Given the description of an element on the screen output the (x, y) to click on. 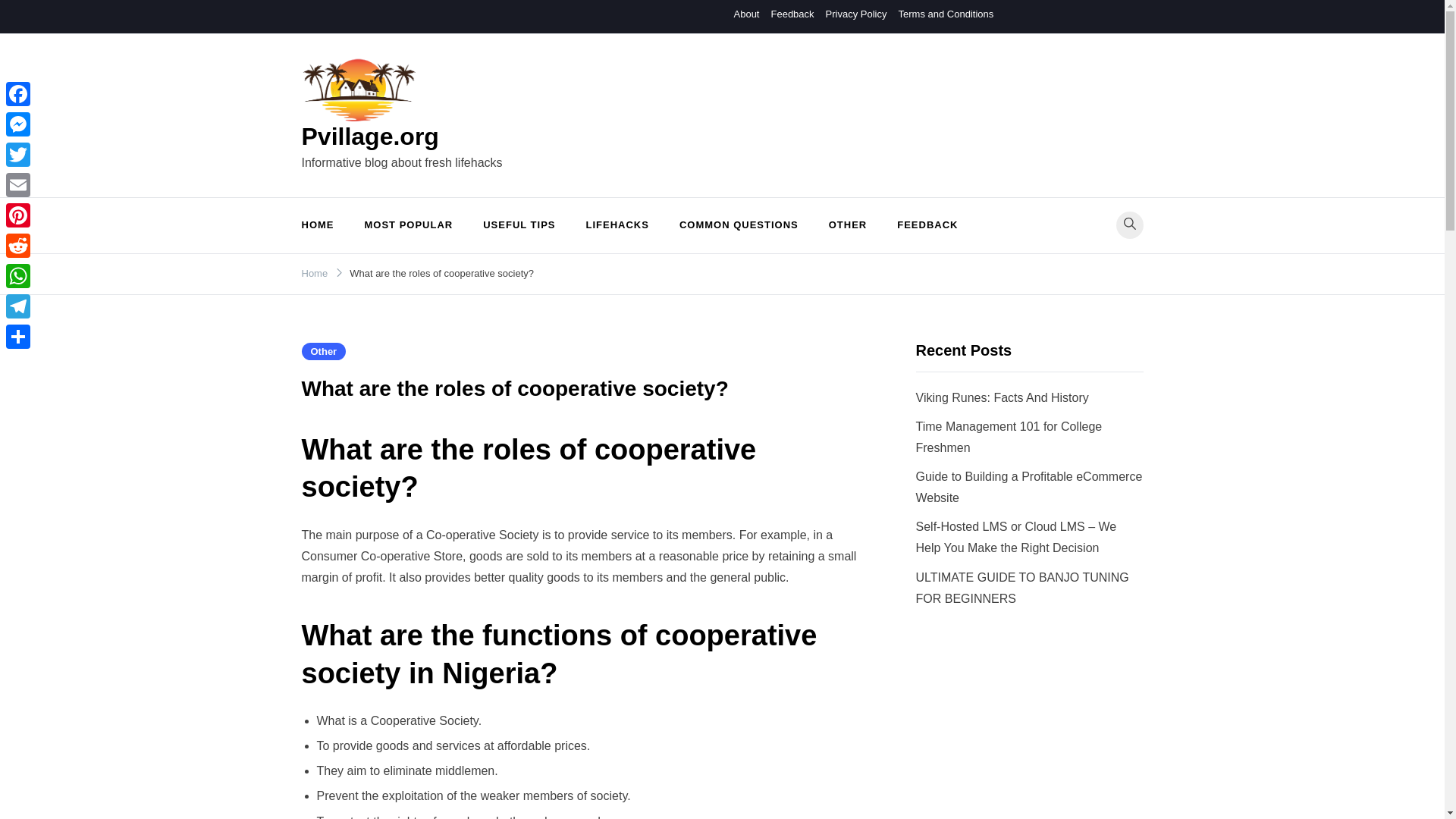
Terms and Conditions (945, 13)
Viking Runes: Facts And History (1002, 397)
ULTIMATE GUIDE TO BANJO TUNING FOR BEGINNERS (1022, 587)
Facebook (17, 93)
Time Management 101 for College Freshmen (1008, 437)
Messenger (17, 123)
WhatsApp (17, 276)
Pvillage.org (370, 135)
Privacy Policy (855, 13)
LIFEHACKS (616, 225)
